Given the description of an element on the screen output the (x, y) to click on. 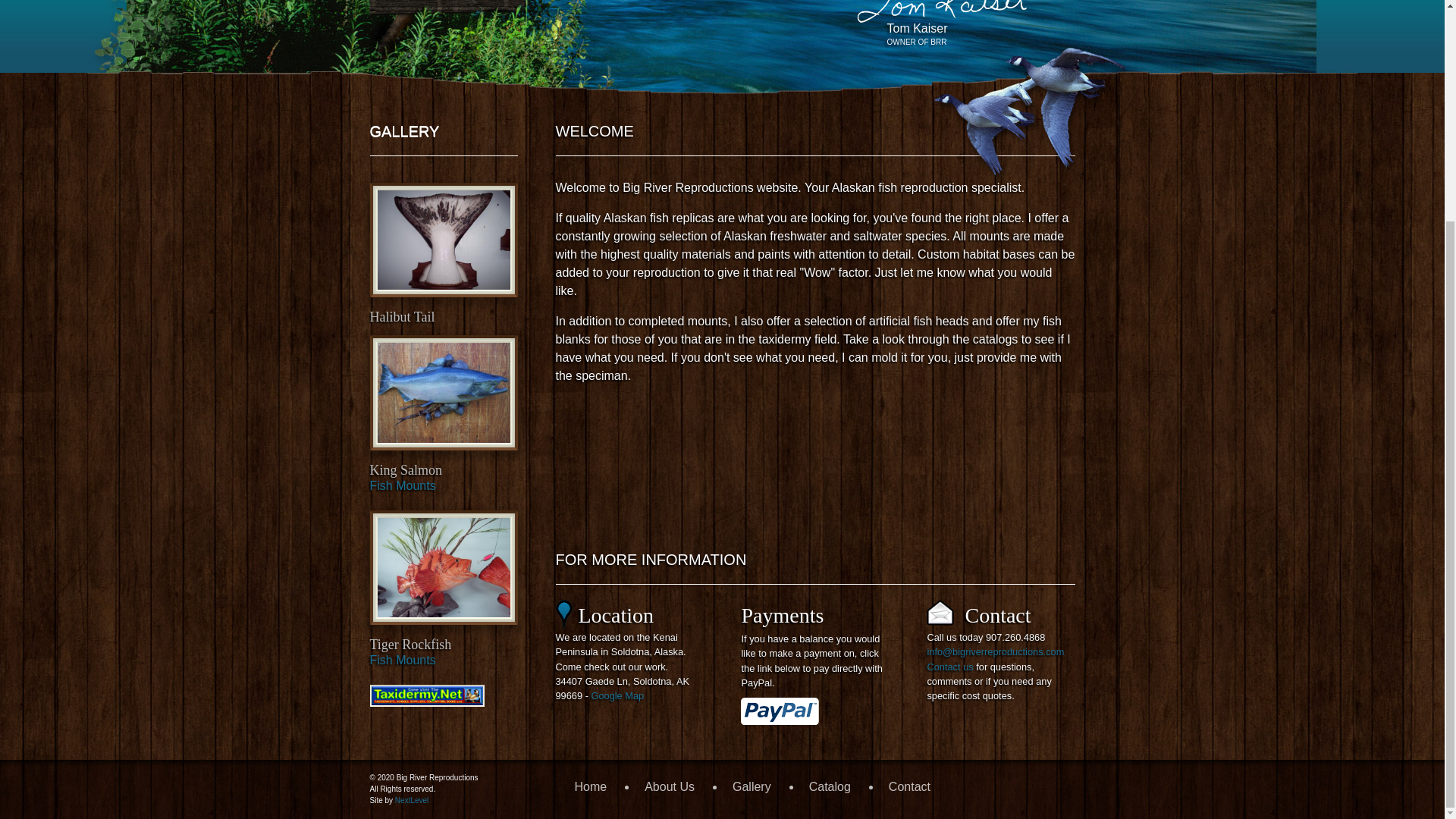
Fish Mounts (402, 484)
NextLevel (411, 800)
Catalog (829, 787)
About Us (669, 787)
Halibut Tail (402, 316)
Fish Mounts (457, 1)
Tiger Rockfish (402, 659)
Contact (410, 644)
Gallery (909, 787)
